Given the description of an element on the screen output the (x, y) to click on. 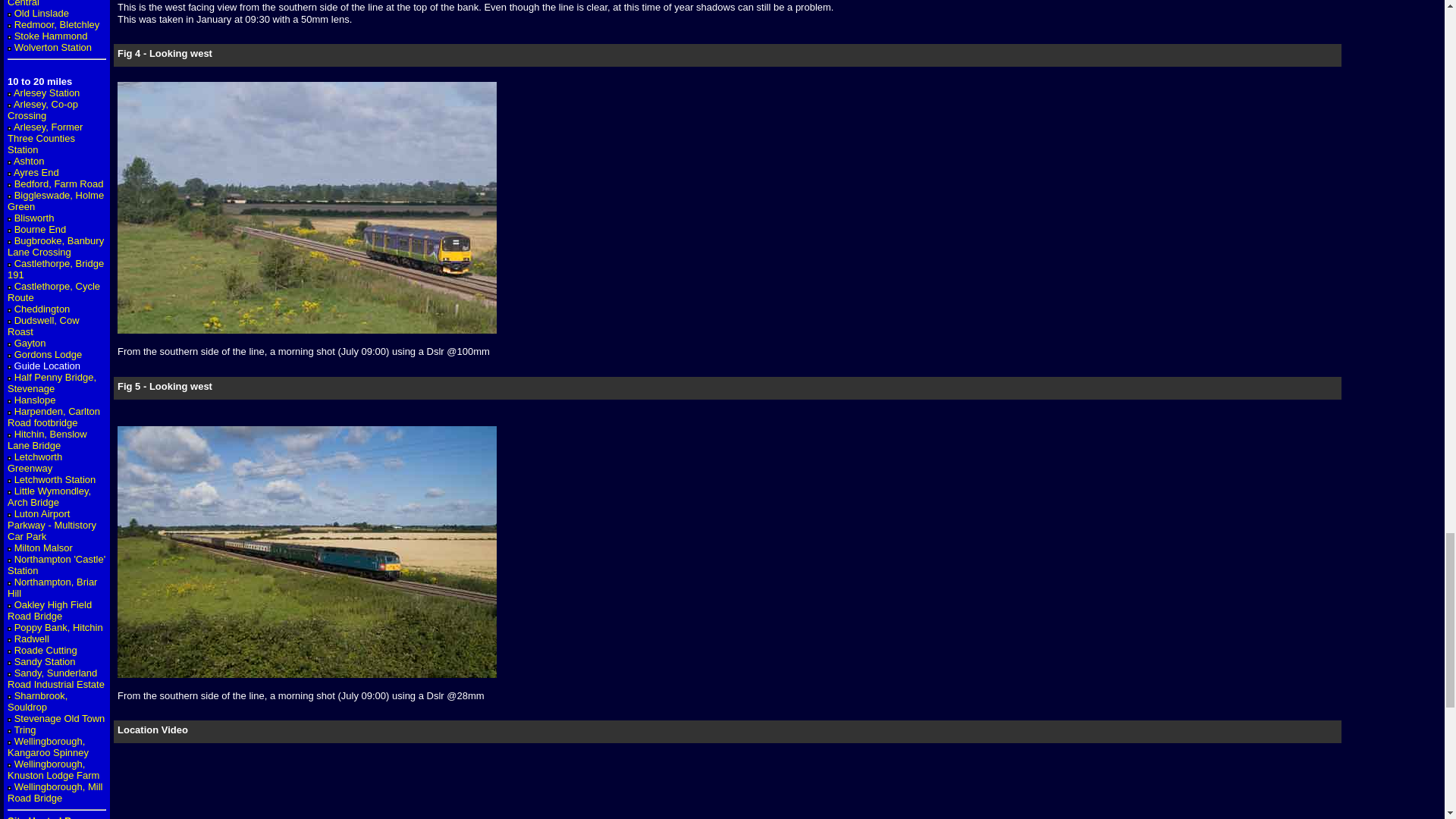
Old Linslade (41, 12)
Milton Keynes Central (41, 3)
